Given the description of an element on the screen output the (x, y) to click on. 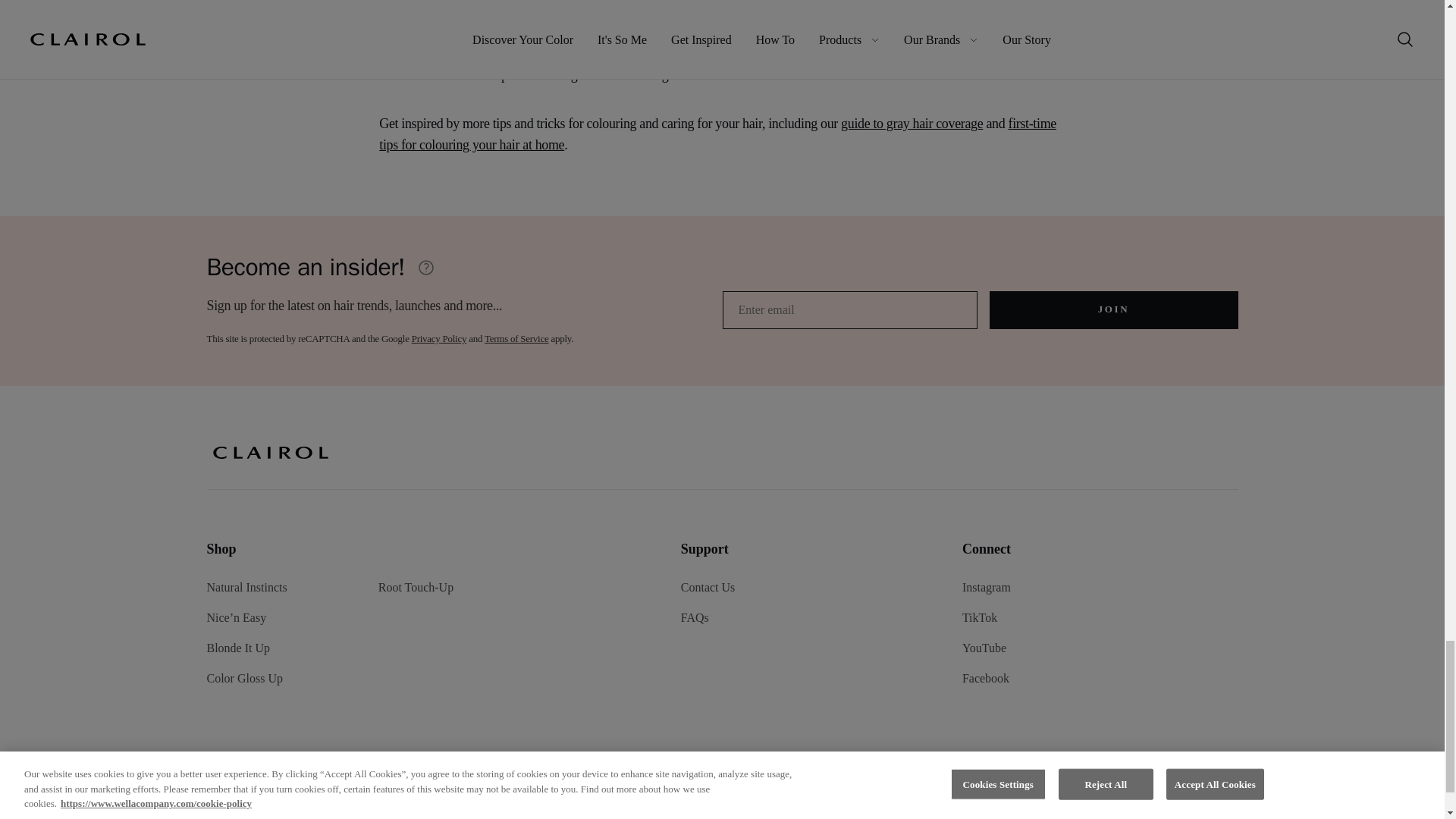
Play It Cool Blonde (922, 53)
Root Touch-Up (415, 586)
Blonde It Up (237, 647)
first-time tips for colouring your hair at home (717, 134)
Contact Us (708, 586)
TikTok (979, 617)
Natural Instincts (246, 586)
FAQs (695, 617)
YouTube (984, 647)
guide to gray hair coverage (911, 123)
Toasted Almond Blonde (704, 63)
Color Gloss Up (244, 677)
Terms of Service (516, 337)
Colour Gloss Up (821, 32)
Privacy Policy (439, 337)
